Given the description of an element on the screen output the (x, y) to click on. 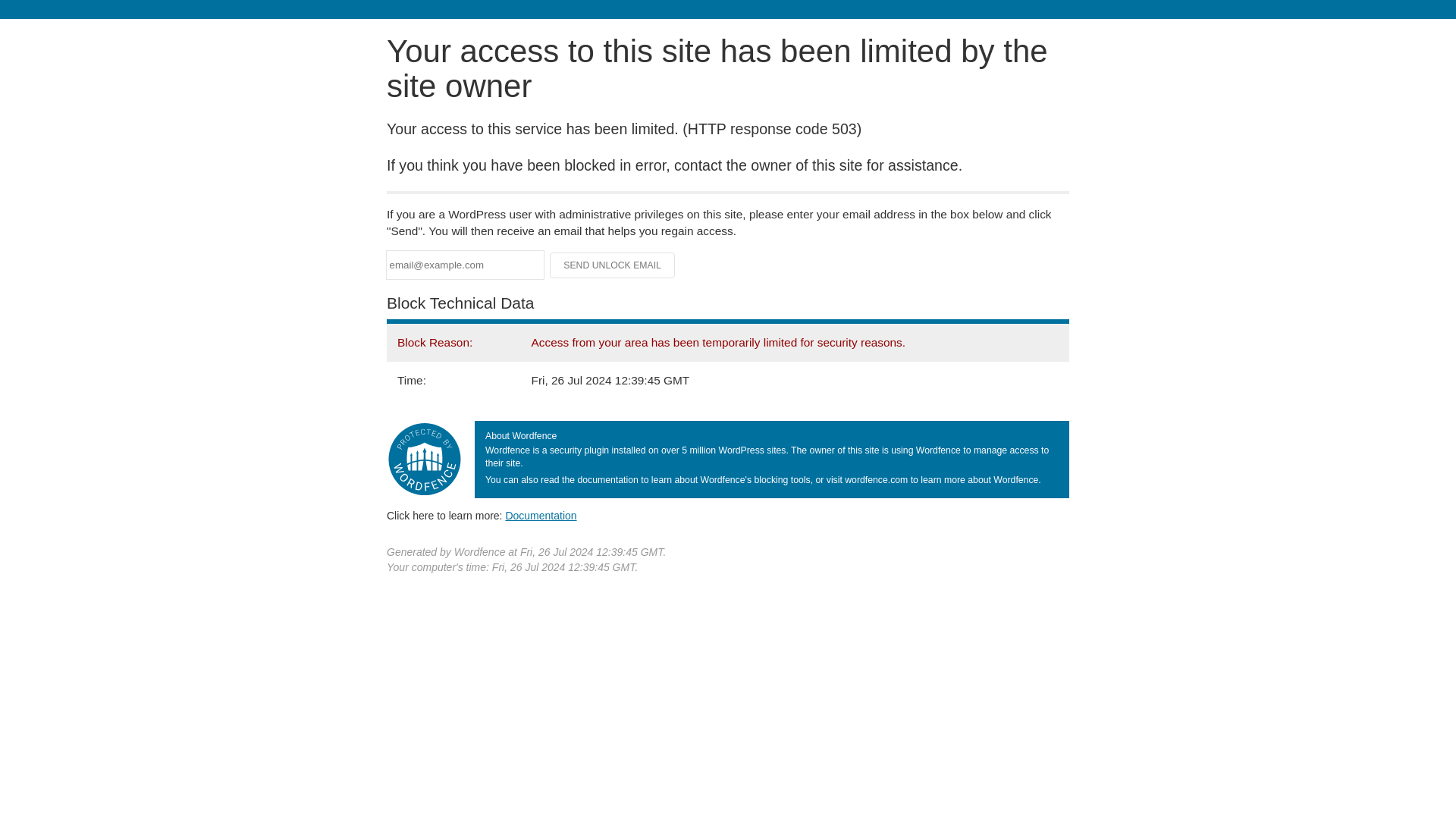
Send Unlock Email (612, 265)
Documentation (540, 515)
Send Unlock Email (612, 265)
